Given the description of an element on the screen output the (x, y) to click on. 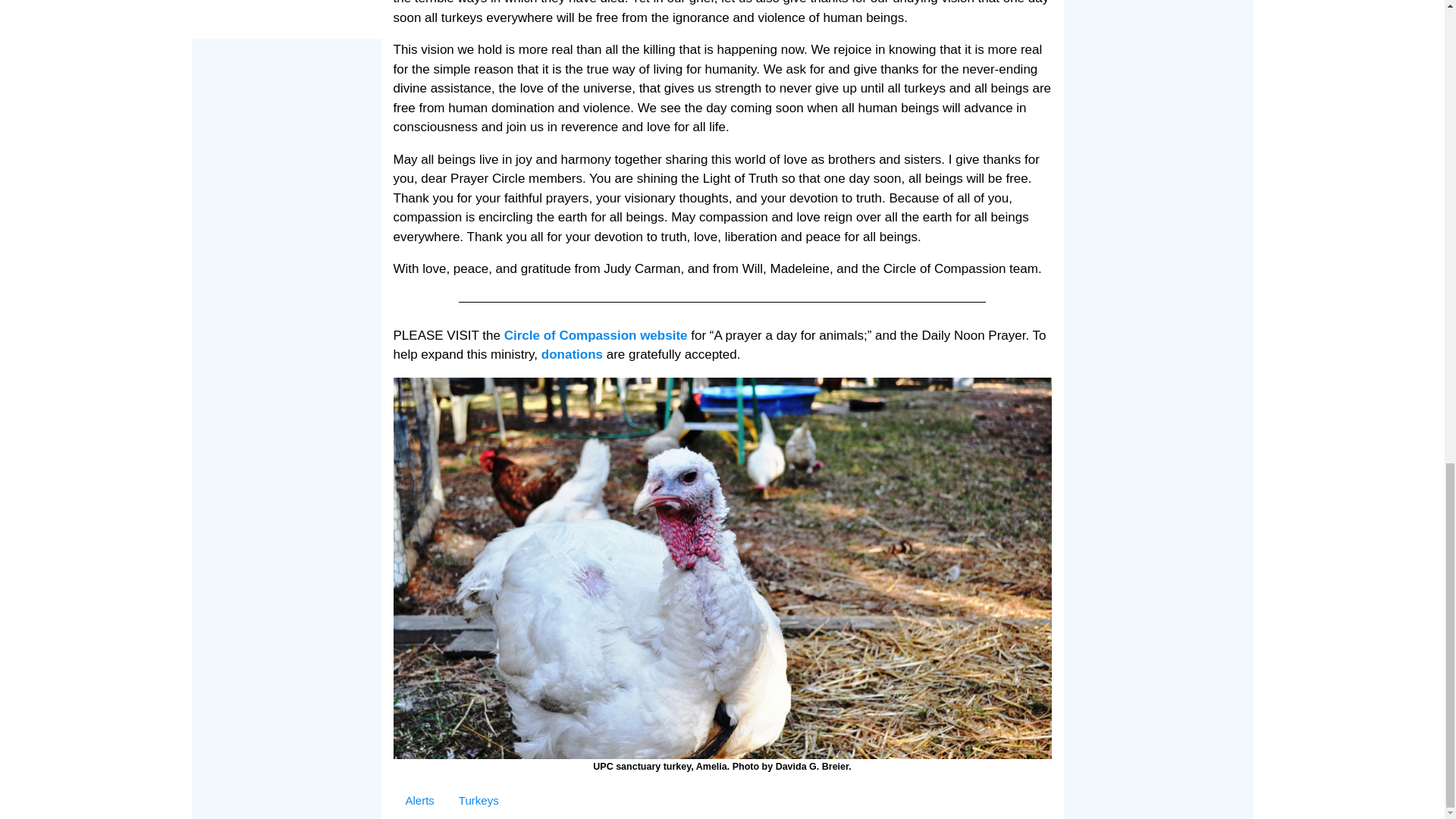
donations (574, 354)
Circle of Compassion website (595, 335)
